Given the description of an element on the screen output the (x, y) to click on. 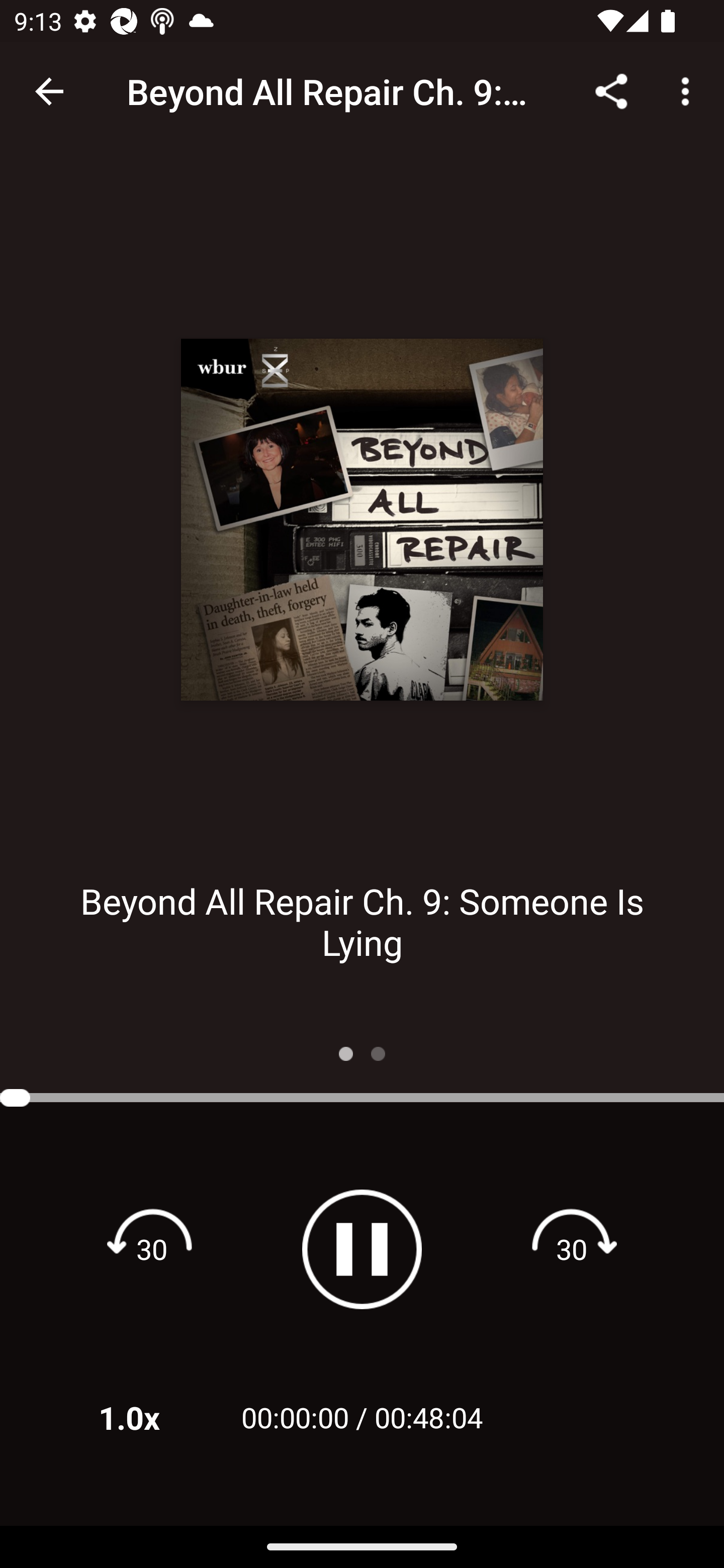
Navigate up (49, 91)
Share... (611, 90)
More options (688, 90)
Pause (361, 1249)
Rewind (151, 1248)
Fast forward (571, 1248)
1.0x Playback Speeds (154, 1417)
00:48:04 (428, 1417)
